Given the description of an element on the screen output the (x, y) to click on. 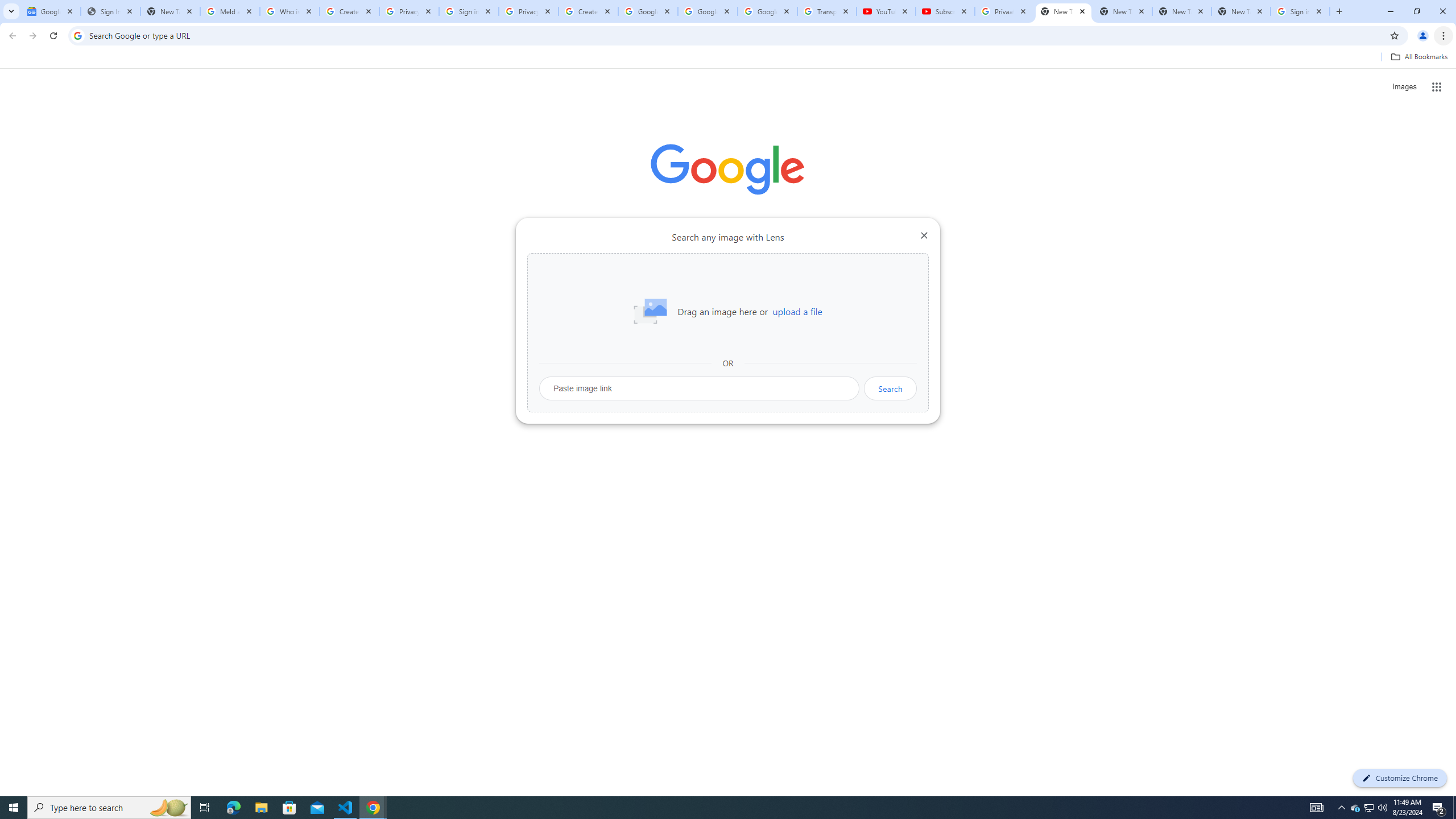
Chrome Web Store (663, 287)
